Given the description of an element on the screen output the (x, y) to click on. 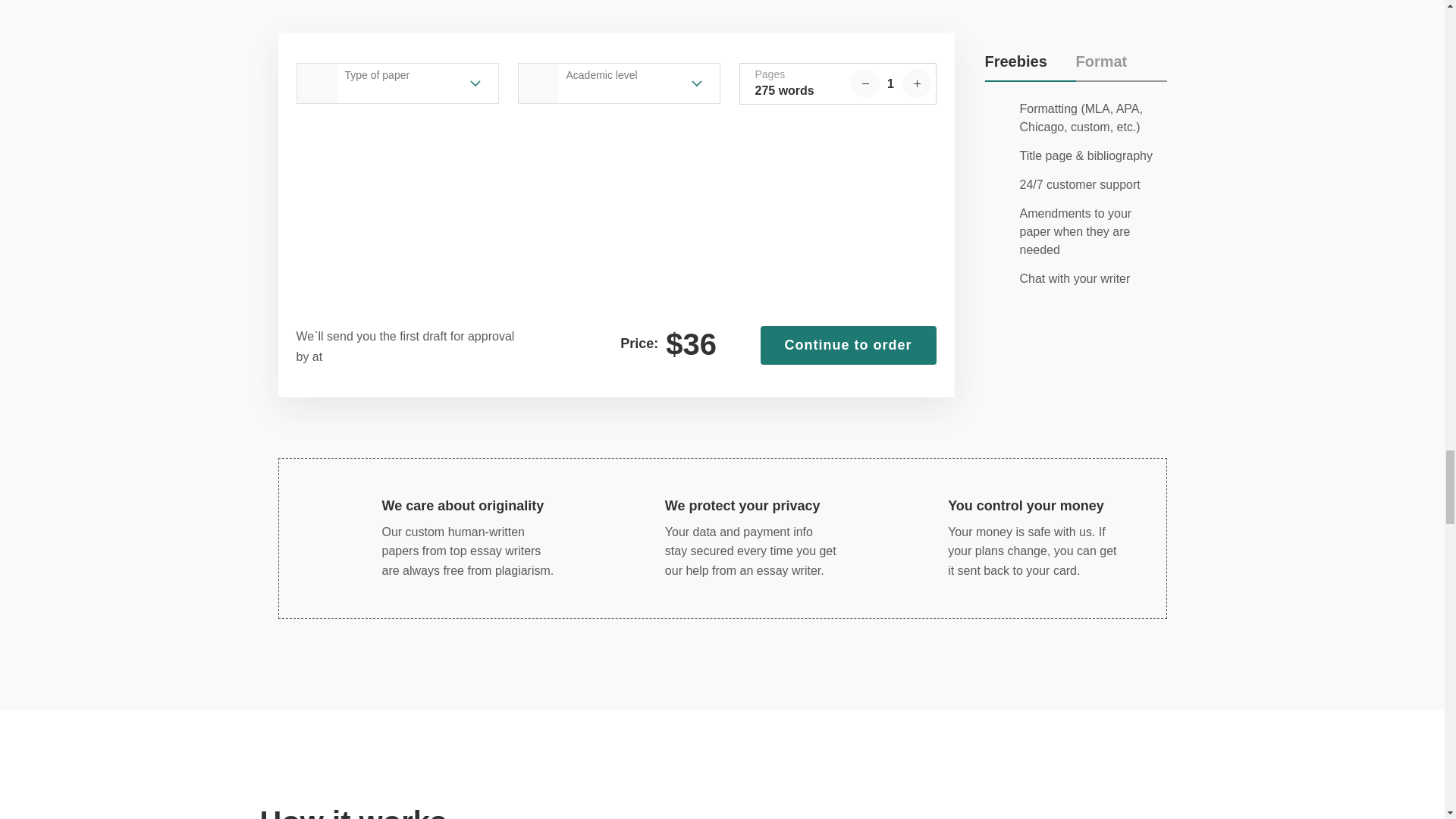
Continue to order (848, 345)
1 (890, 83)
